Given the description of an element on the screen output the (x, y) to click on. 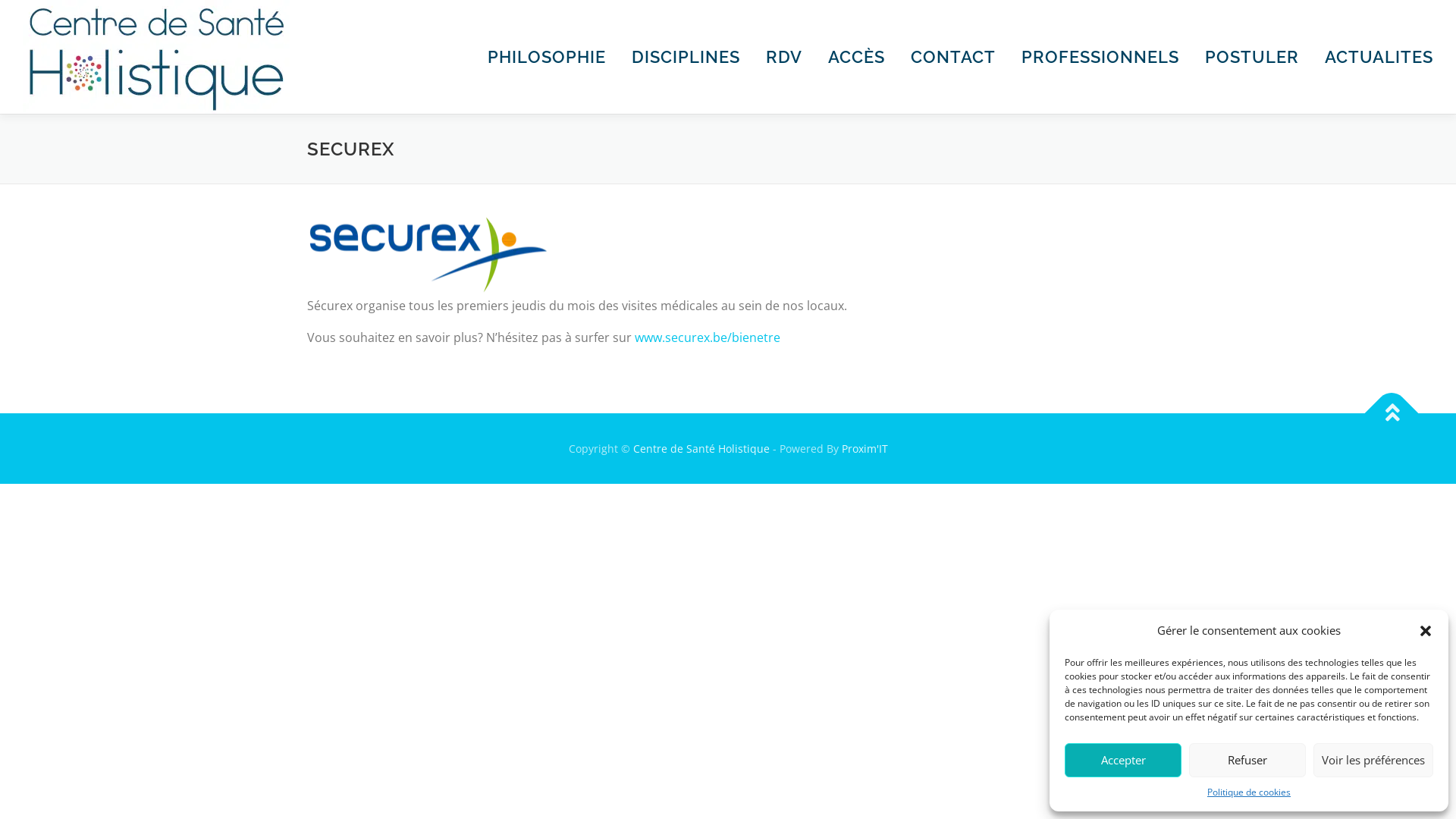
PHILOSOPHIE Element type: text (546, 56)
ACTUALITES Element type: text (1372, 56)
Proxim'IT Element type: text (864, 448)
Retour en haut Element type: hover (1383, 404)
Accepter Element type: text (1122, 760)
Refuser Element type: text (1247, 760)
RDV Element type: text (784, 56)
DISCIPLINES Element type: text (685, 56)
www.securex.be/bienetre Element type: text (707, 337)
Politique de cookies Element type: text (1248, 792)
CONTACT Element type: text (952, 56)
POSTULER Element type: text (1251, 56)
PROFESSIONNELS Element type: text (1100, 56)
